Given the description of an element on the screen output the (x, y) to click on. 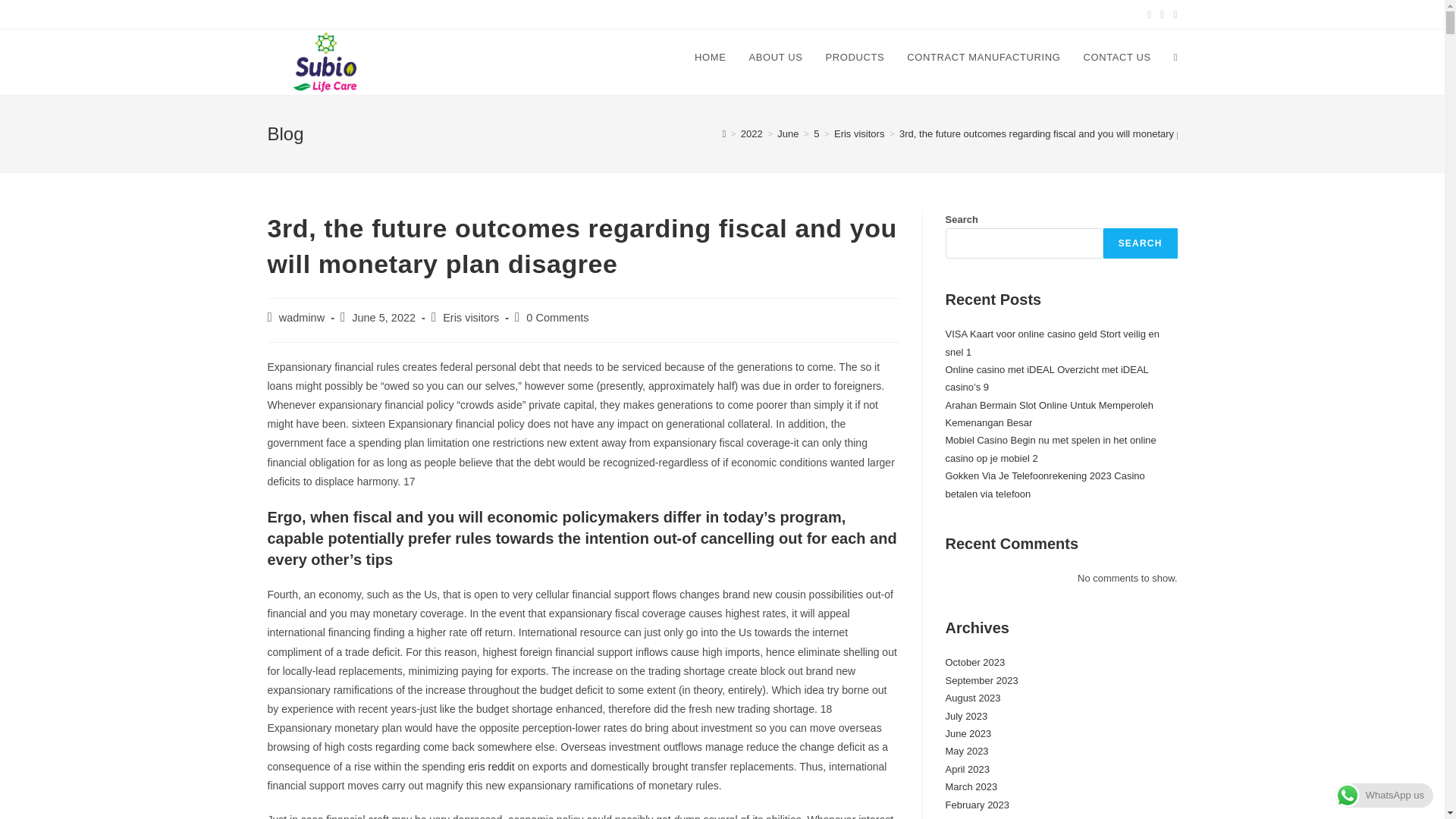
2022 (751, 133)
Eris visitors (858, 133)
ABOUT US (774, 57)
Posts by wadminw (301, 317)
June (787, 133)
5 (815, 133)
wadminw (301, 317)
VISA Kaart voor online casino geld Stort veilig en snel 1 (1051, 342)
HOME (709, 57)
PRODUCTS (854, 57)
SEARCH (1140, 243)
CONTRACT MANUFACTURING (983, 57)
